Given the description of an element on the screen output the (x, y) to click on. 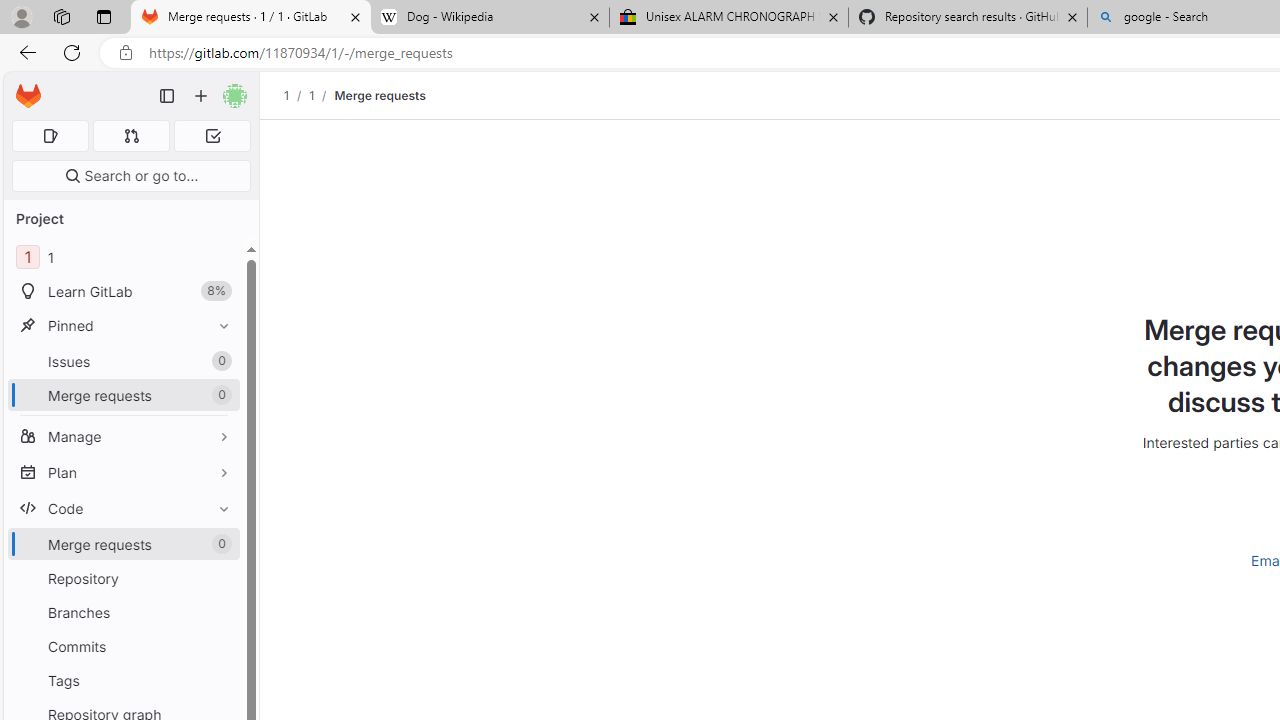
Merge requests (380, 95)
Unpin Merge requests (219, 544)
1 1 (123, 257)
Plan (123, 471)
Pinned (123, 325)
